Given the description of an element on the screen output the (x, y) to click on. 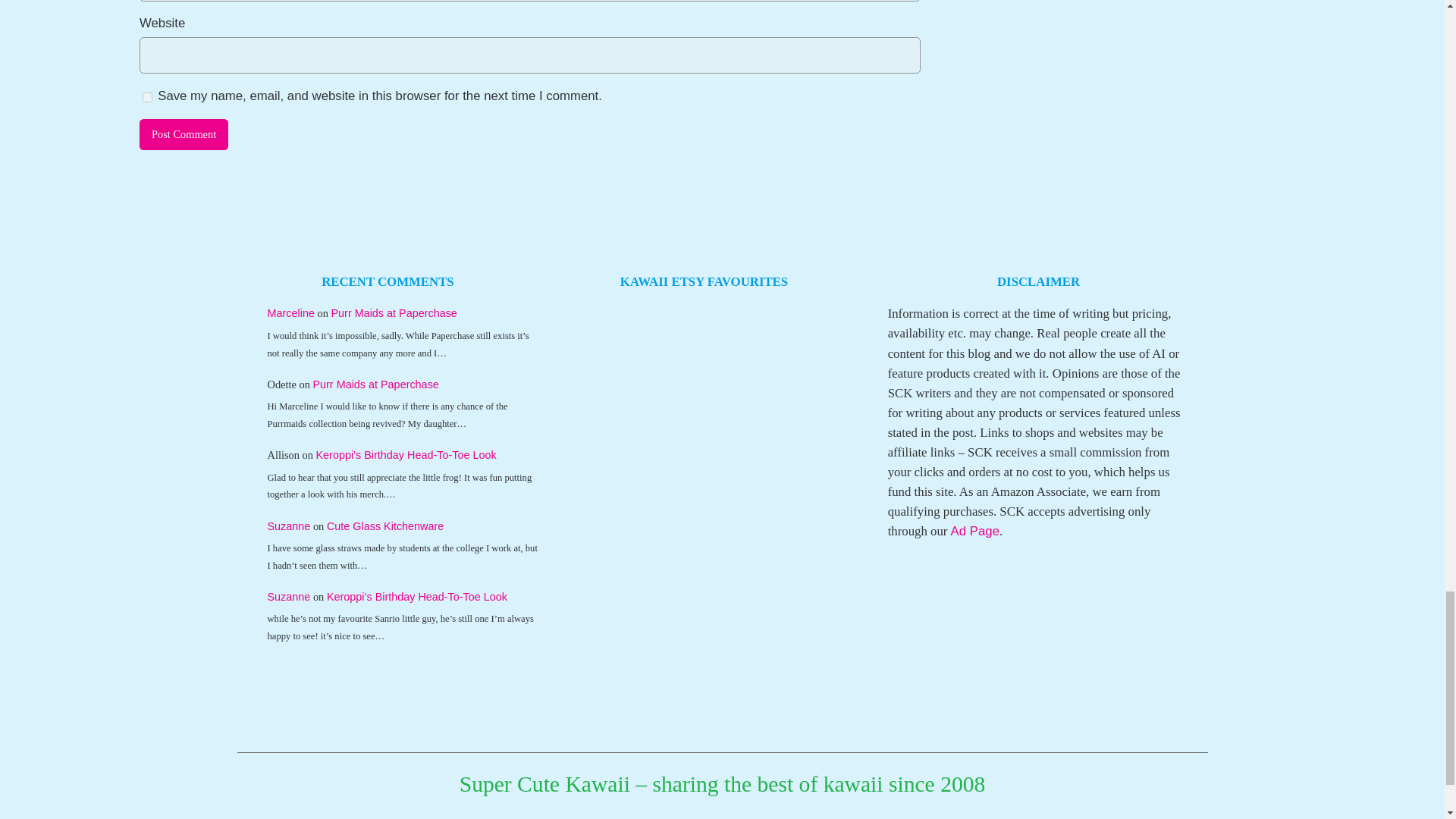
Post Comment (183, 134)
